Given the description of an element on the screen output the (x, y) to click on. 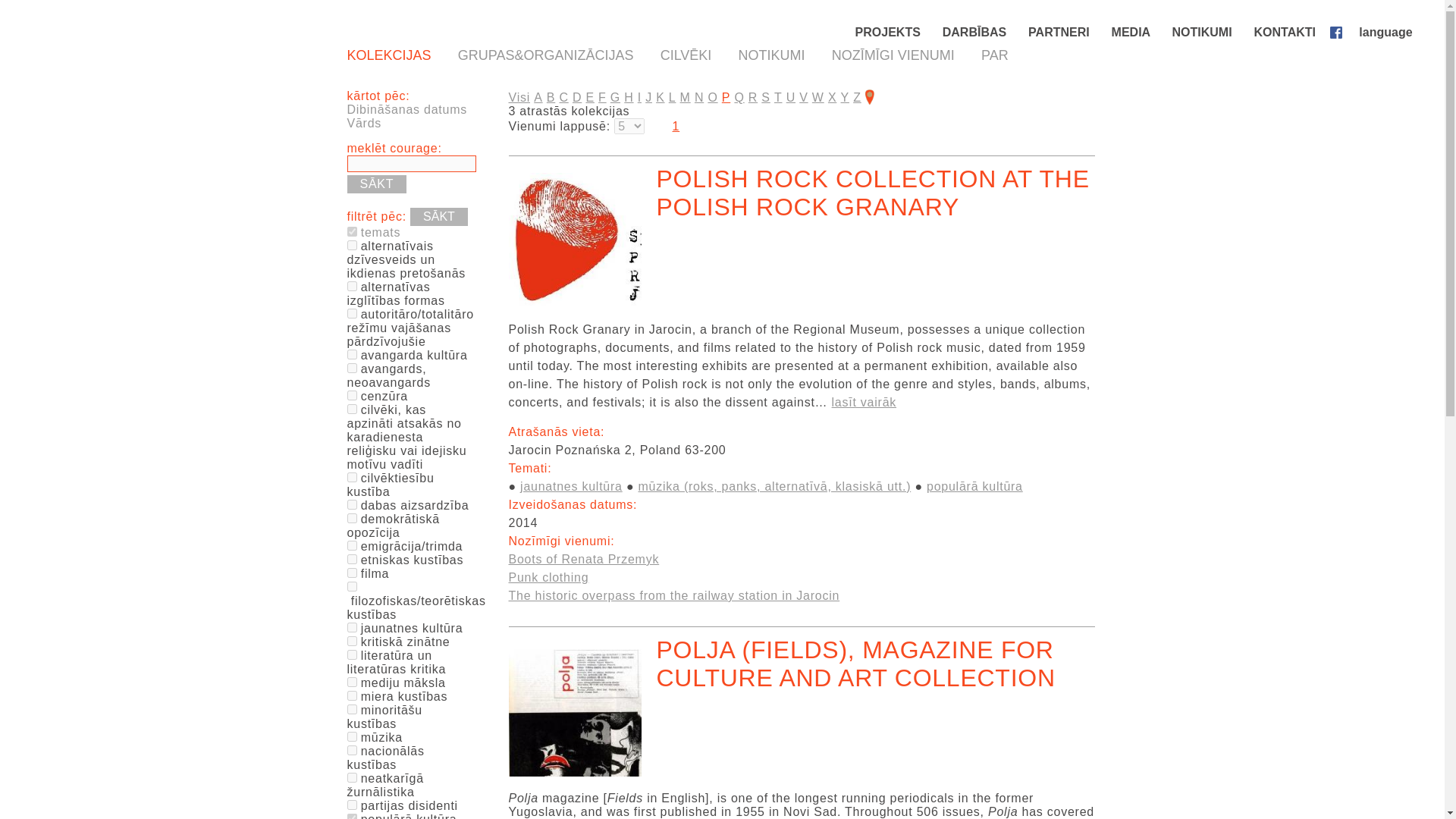
PARTNERI  (1060, 32)
This is the text of the tooltip2 (351, 354)
This is the text of the tooltip2 (351, 504)
This is the text of the tooltip2 (351, 641)
This is the text of the tooltip2 (351, 573)
courage:democraticOpposition (351, 518)
This is the text of the tooltip2 (351, 518)
courage:survivors (351, 313)
This is the text of the tooltip2 (351, 286)
courage:literature (351, 655)
This is the text of the tooltip2 (351, 586)
courage:conscientiousObjectors (351, 409)
courage:undergroundCulture (351, 354)
This is the text of the tooltip2 (351, 409)
courage:humanRightsMovement (351, 477)
